Given the description of an element on the screen output the (x, y) to click on. 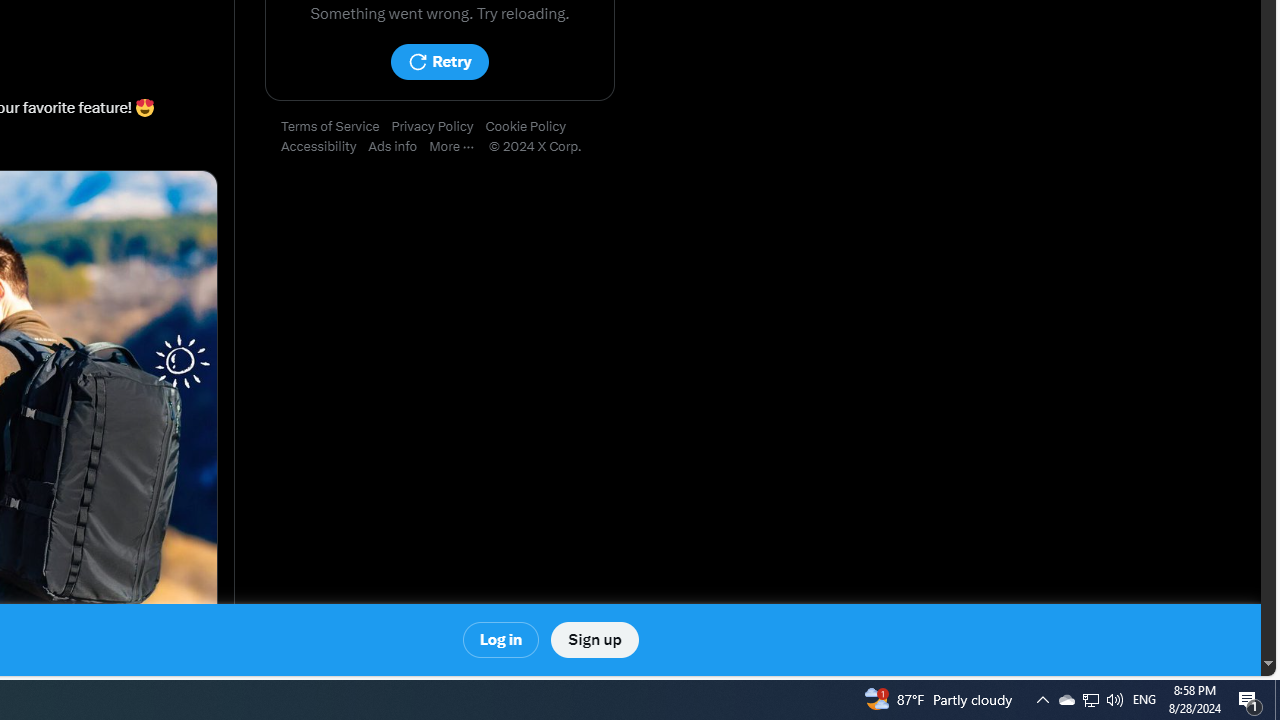
Cookie Policy (531, 127)
Sign up (594, 640)
Privacy Policy (438, 127)
Log in (501, 640)
Accessibility (324, 147)
Terms of Service (336, 127)
Retry (439, 61)
More (458, 147)
Ads info (399, 147)
